Given the description of an element on the screen output the (x, y) to click on. 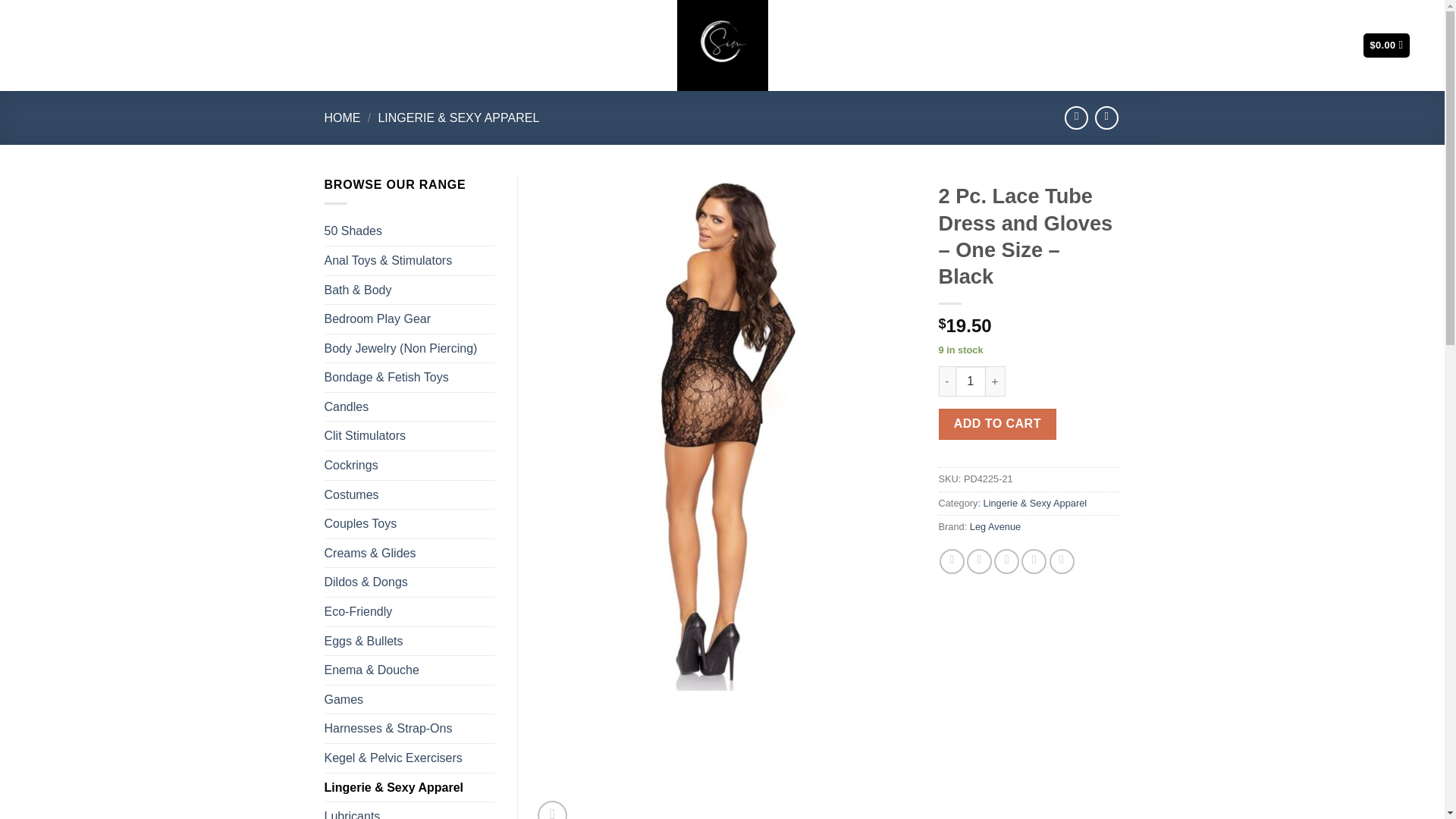
Bedroom Play Gear (409, 318)
Clit Stimulators (409, 435)
ADD TO CART (998, 423)
Share on Facebook (951, 561)
Leg Avenue (994, 526)
HOME (342, 117)
Zoom (552, 809)
SIM Toy Shop (722, 45)
Cart (1385, 45)
Qty (970, 381)
